Given the description of an element on the screen output the (x, y) to click on. 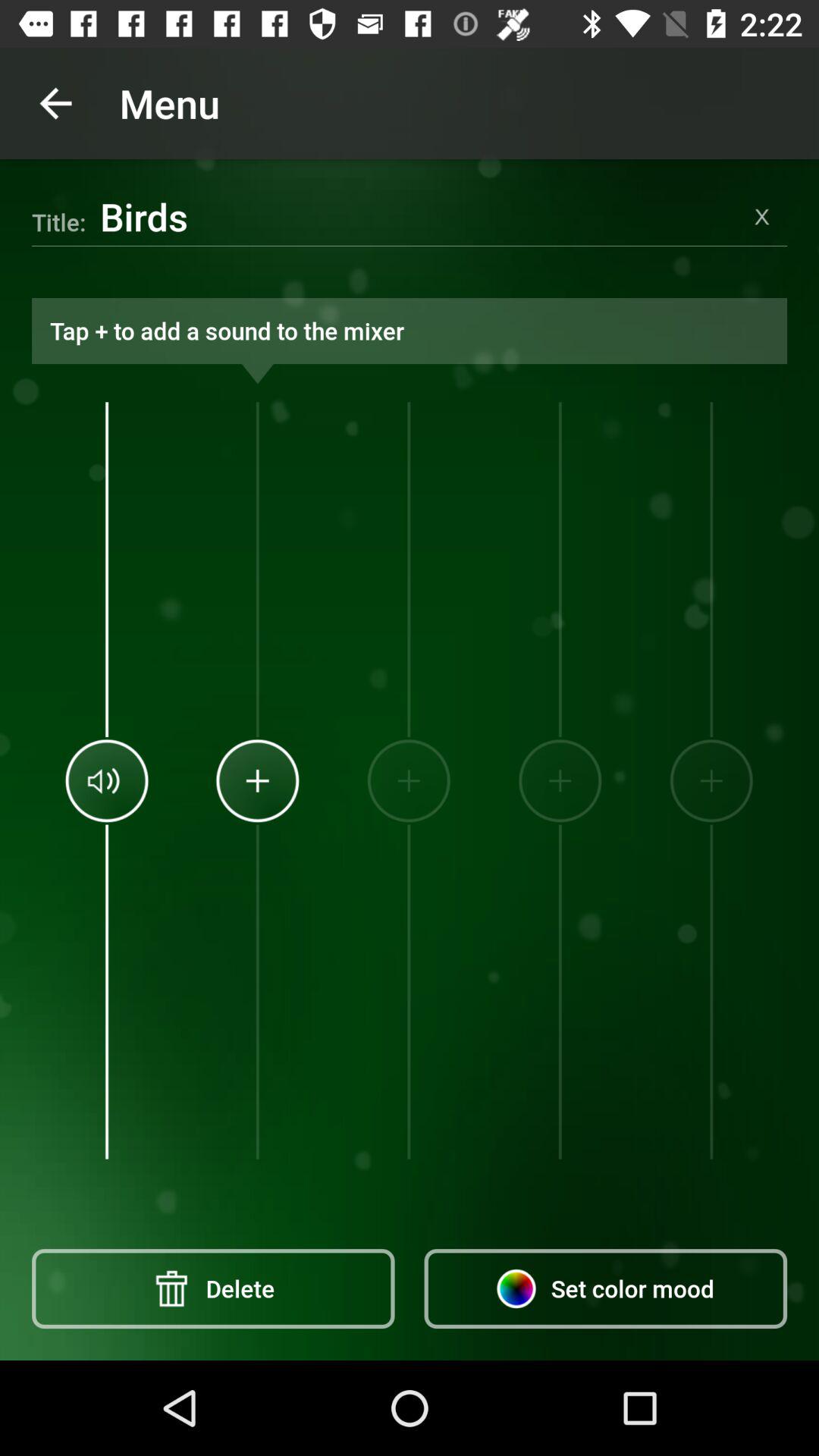
clear title (762, 216)
